Given the description of an element on the screen output the (x, y) to click on. 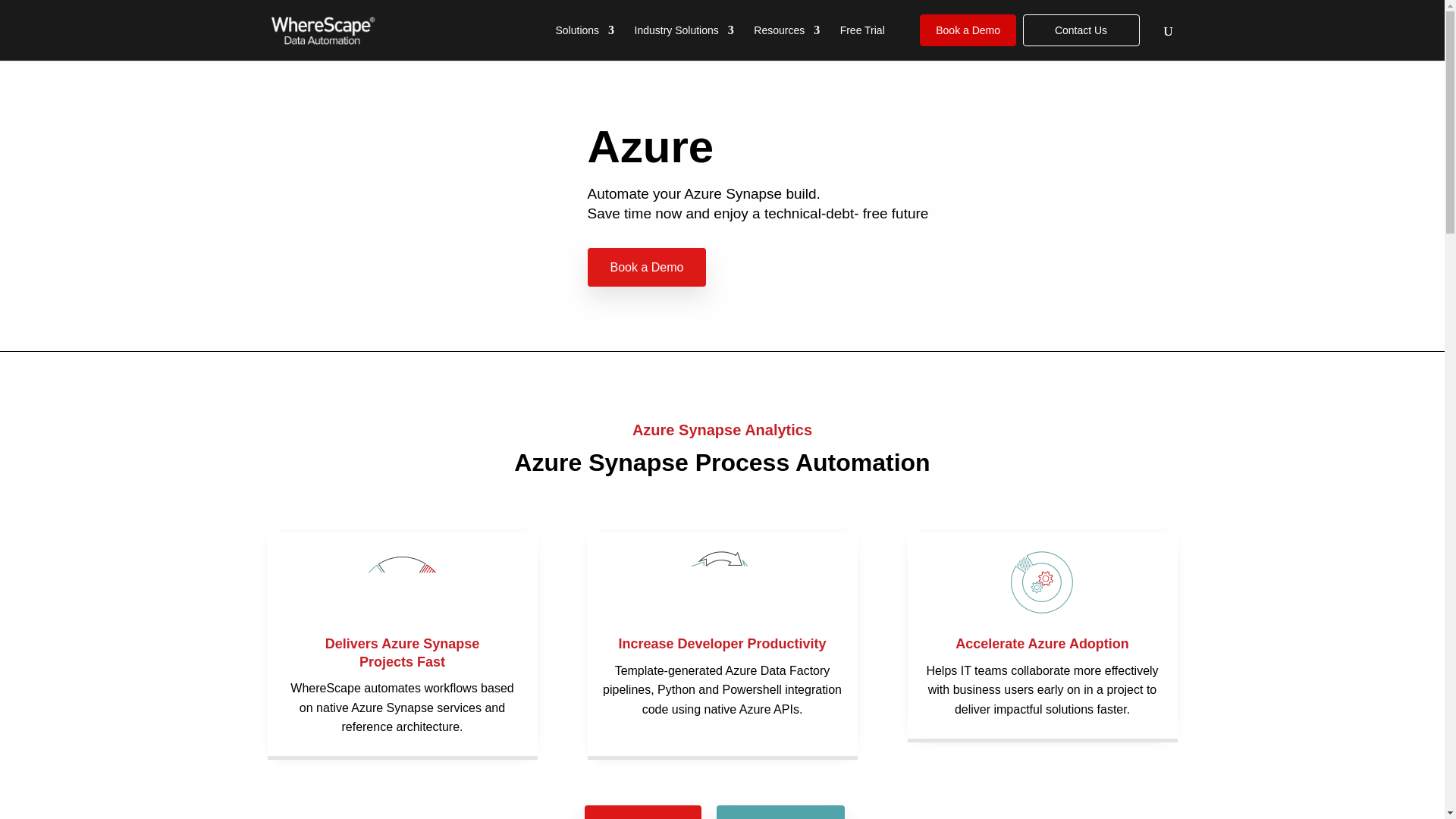
abstract-icon-wsred-fasttrack95 (1041, 582)
abstract-icon-ws3d-testiterate (722, 582)
Industry Solutions (683, 42)
Resources (786, 42)
Group-290 (487, 174)
abstract-icon-speed (401, 582)
Solutions (584, 42)
